Given the description of an element on the screen output the (x, y) to click on. 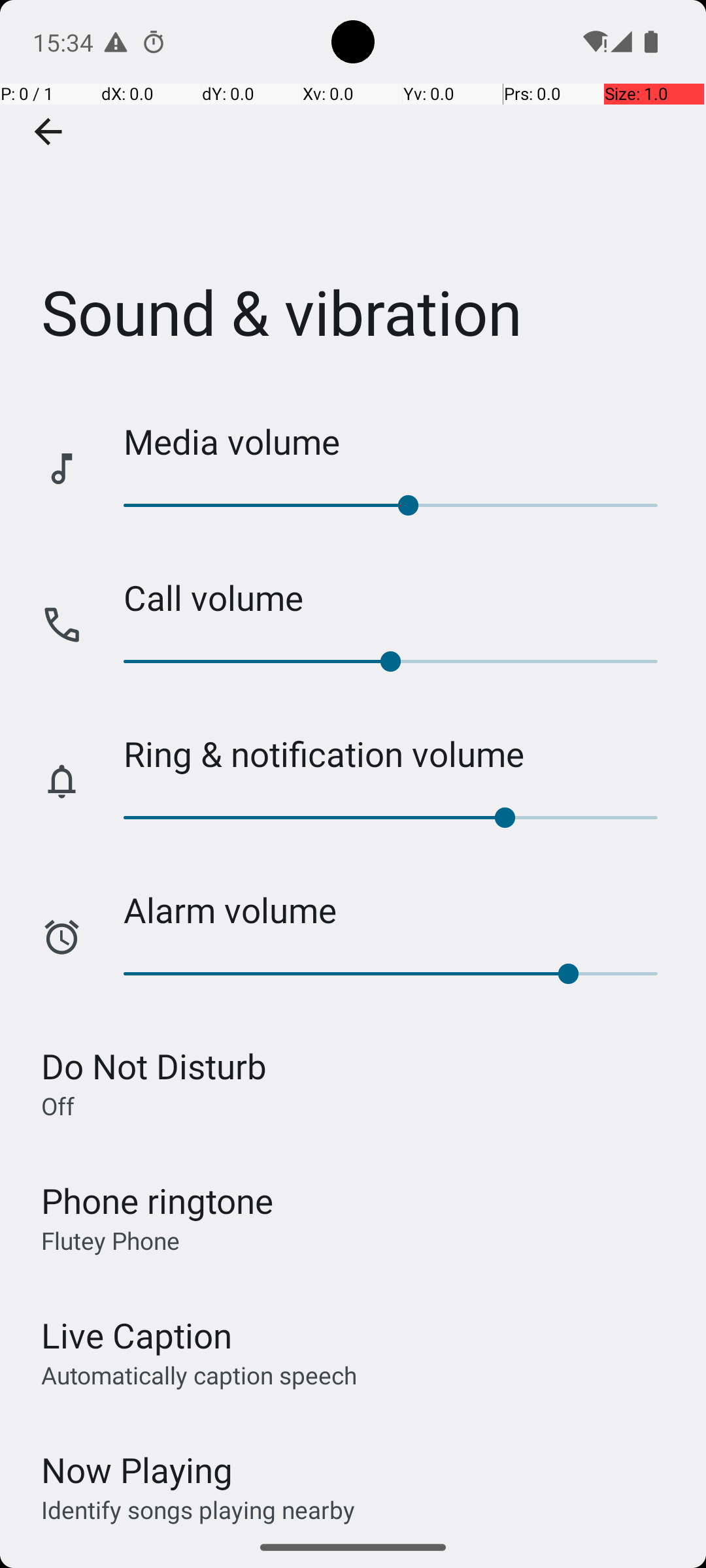
Sound & vibration Element type: android.widget.FrameLayout (353, 195)
Media volume Element type: android.widget.TextView (400, 441)
Call volume Element type: android.widget.TextView (400, 597)
Ring & notification volume Element type: android.widget.TextView (400, 753)
Alarm volume Element type: android.widget.TextView (400, 909)
Do Not Disturb Element type: android.widget.TextView (153, 1065)
Phone ringtone Element type: android.widget.TextView (157, 1200)
Flutey Phone Element type: android.widget.TextView (110, 1240)
Live Caption Element type: android.widget.TextView (136, 1334)
Automatically caption speech Element type: android.widget.TextView (199, 1374)
Now Playing Element type: android.widget.TextView (136, 1469)
Identify songs playing nearby Element type: android.widget.TextView (197, 1509)
Android System notification:  Element type: android.widget.ImageView (115, 41)
